Given the description of an element on the screen output the (x, y) to click on. 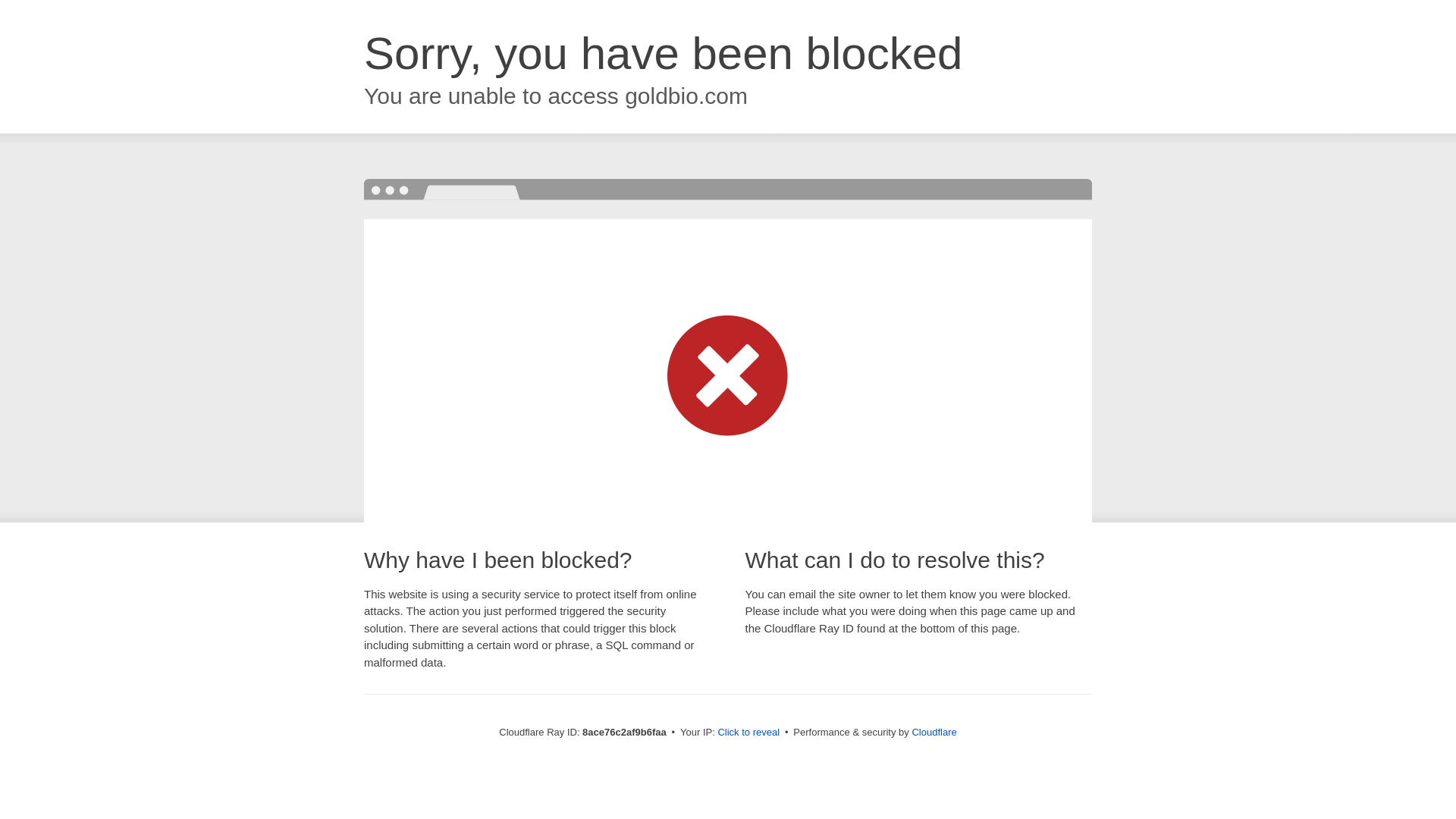
Cloudflare (933, 731)
Click to reveal (747, 732)
